Given the description of an element on the screen output the (x, y) to click on. 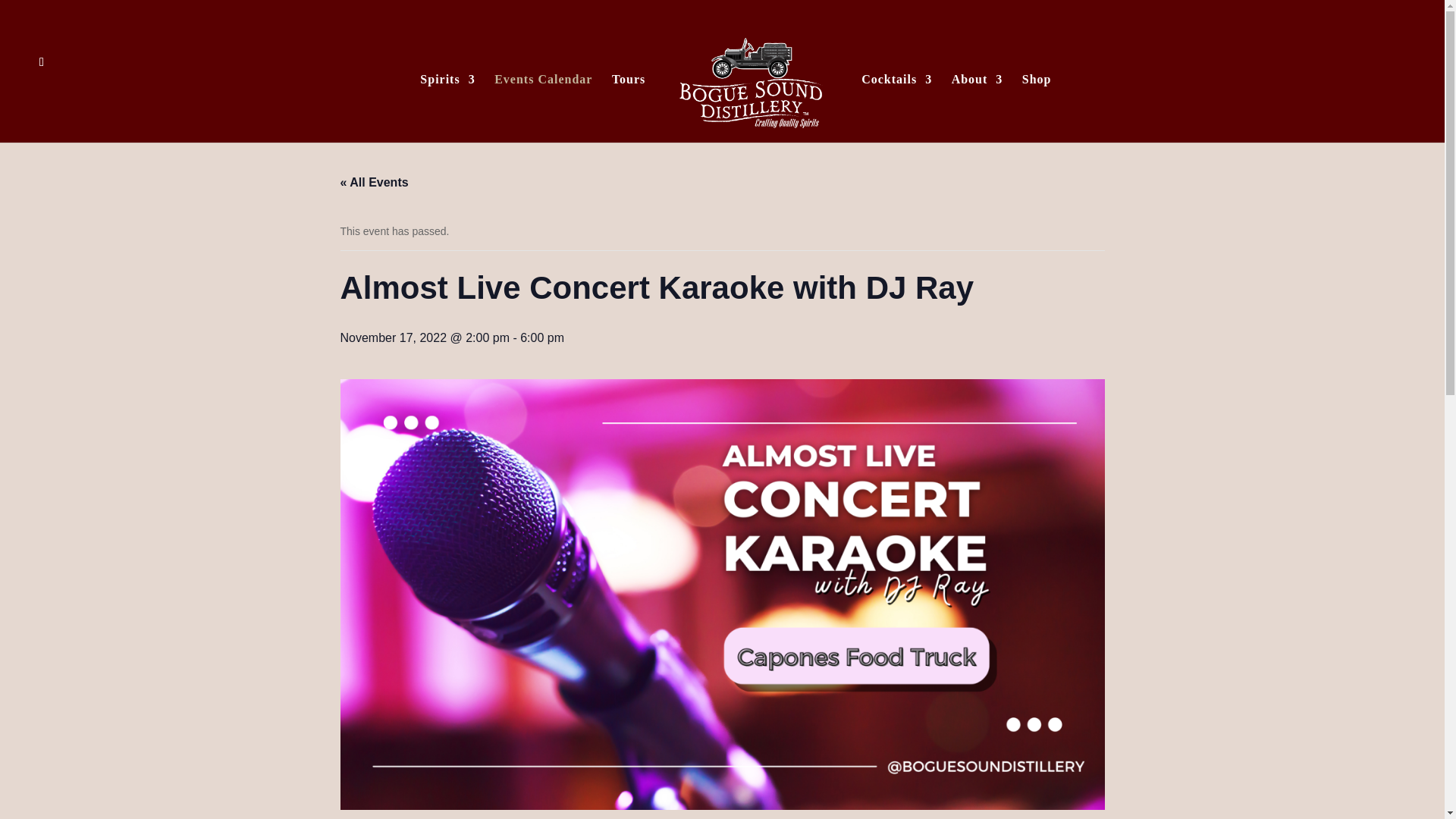
Cocktails (896, 108)
Events Calendar (543, 108)
